Given the description of an element on the screen output the (x, y) to click on. 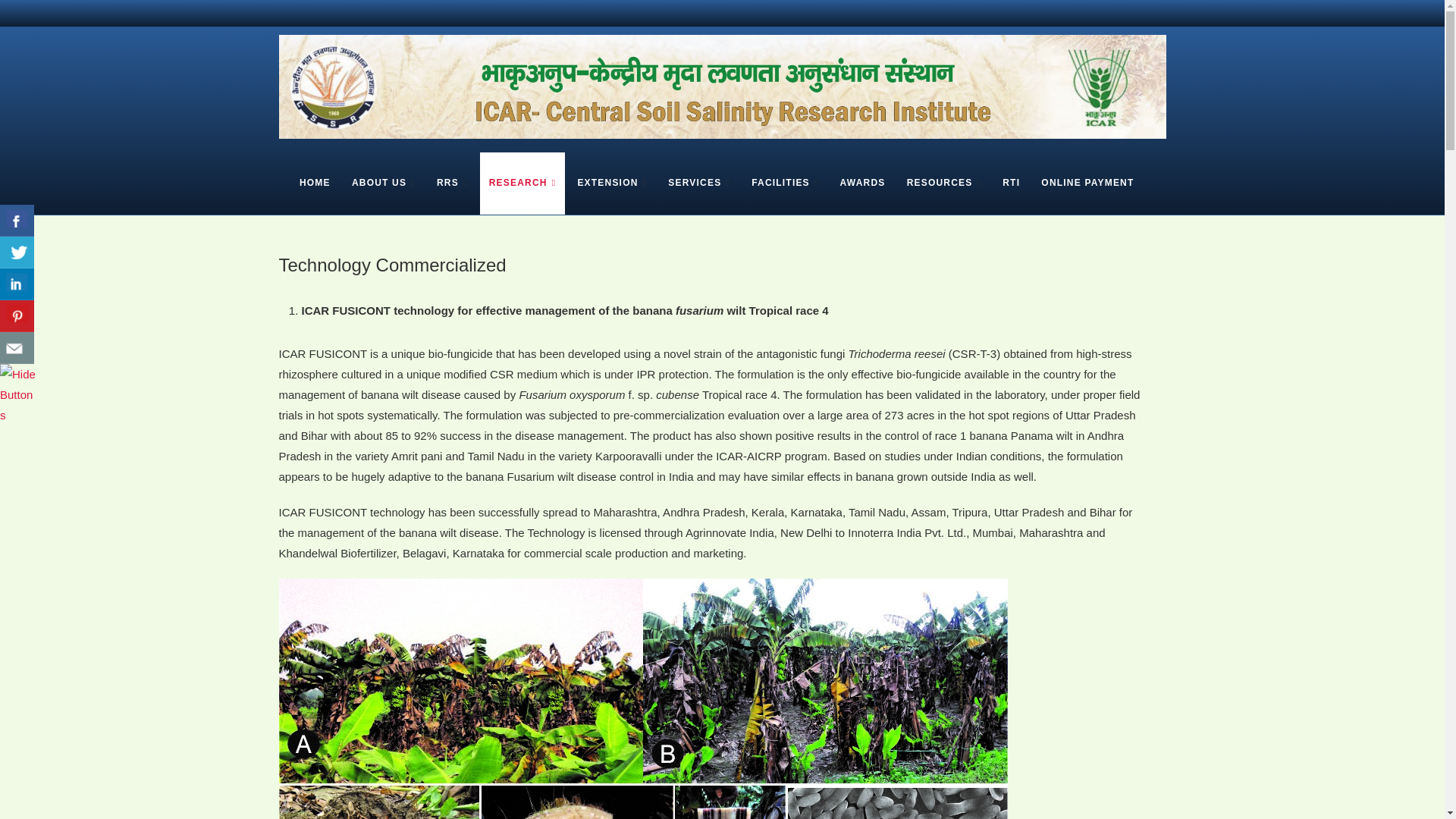
RESEARCH (523, 183)
Share On Pinterest (16, 316)
Contact us (16, 347)
Share On Facebook (16, 220)
Hindi (1127, 15)
Hide Buttons (18, 373)
Share On Linkedin (16, 284)
ABOUT US (383, 183)
English (1154, 15)
Share On Twitter (16, 252)
